Given the description of an element on the screen output the (x, y) to click on. 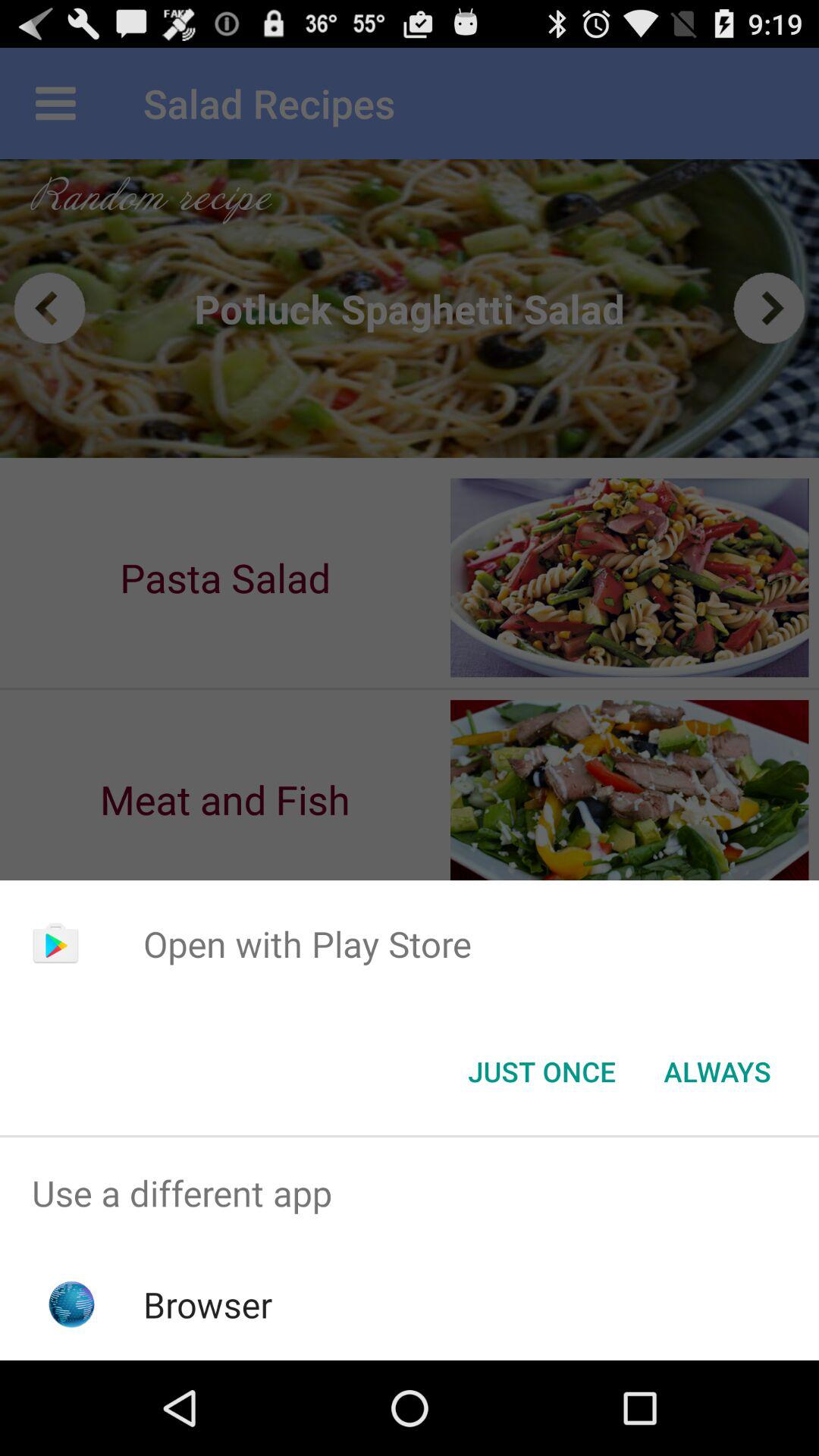
flip to the just once button (541, 1071)
